Given the description of an element on the screen output the (x, y) to click on. 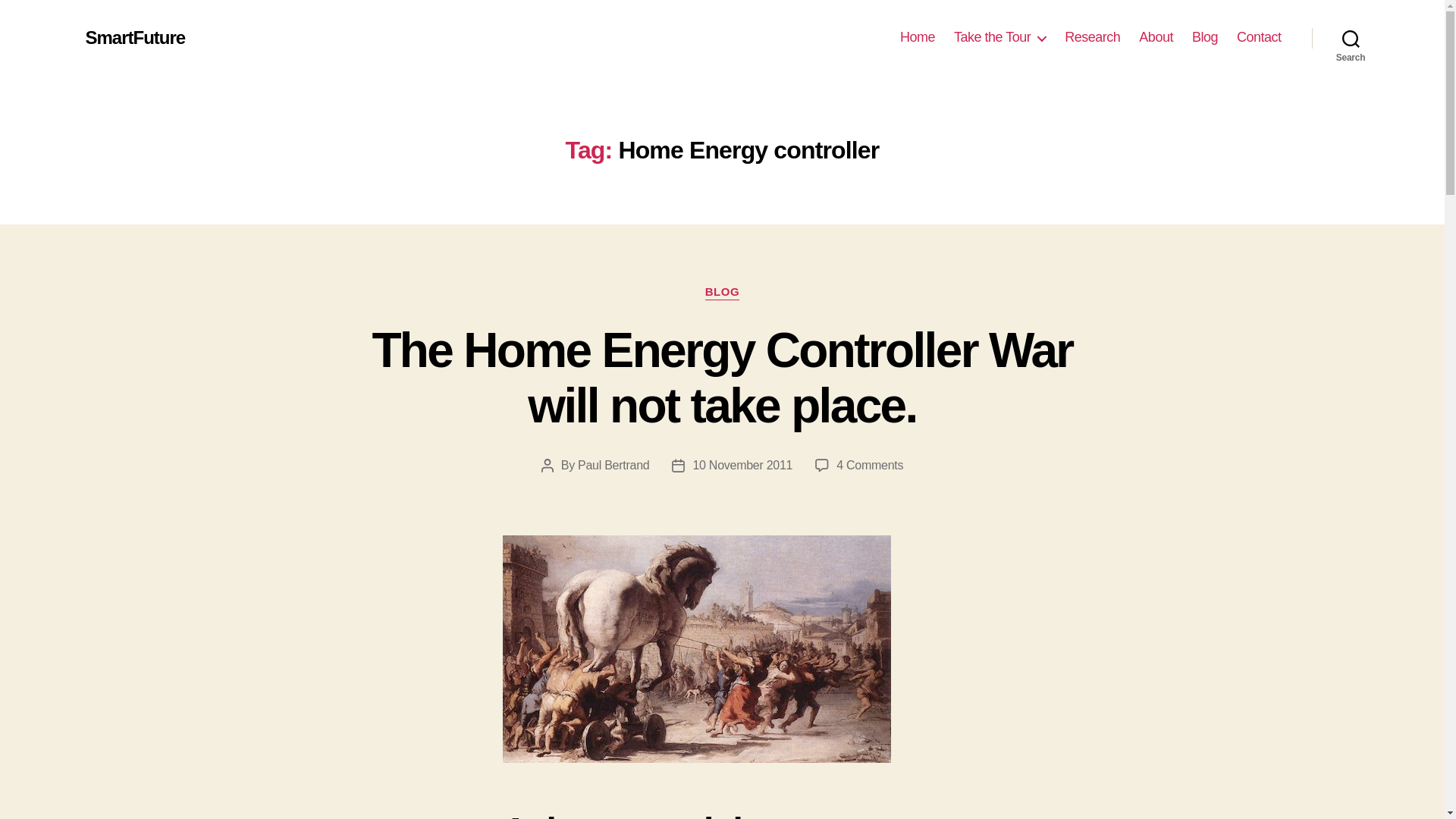
Contact (1258, 37)
Blog (1204, 37)
Paul Bertrand (613, 464)
10 November 2011 (742, 464)
Take the Tour (999, 37)
BLOG (721, 292)
Home (916, 37)
Search (1350, 37)
The Home Energy Controller War will not take place. (721, 377)
About (1155, 37)
